Given the description of an element on the screen output the (x, y) to click on. 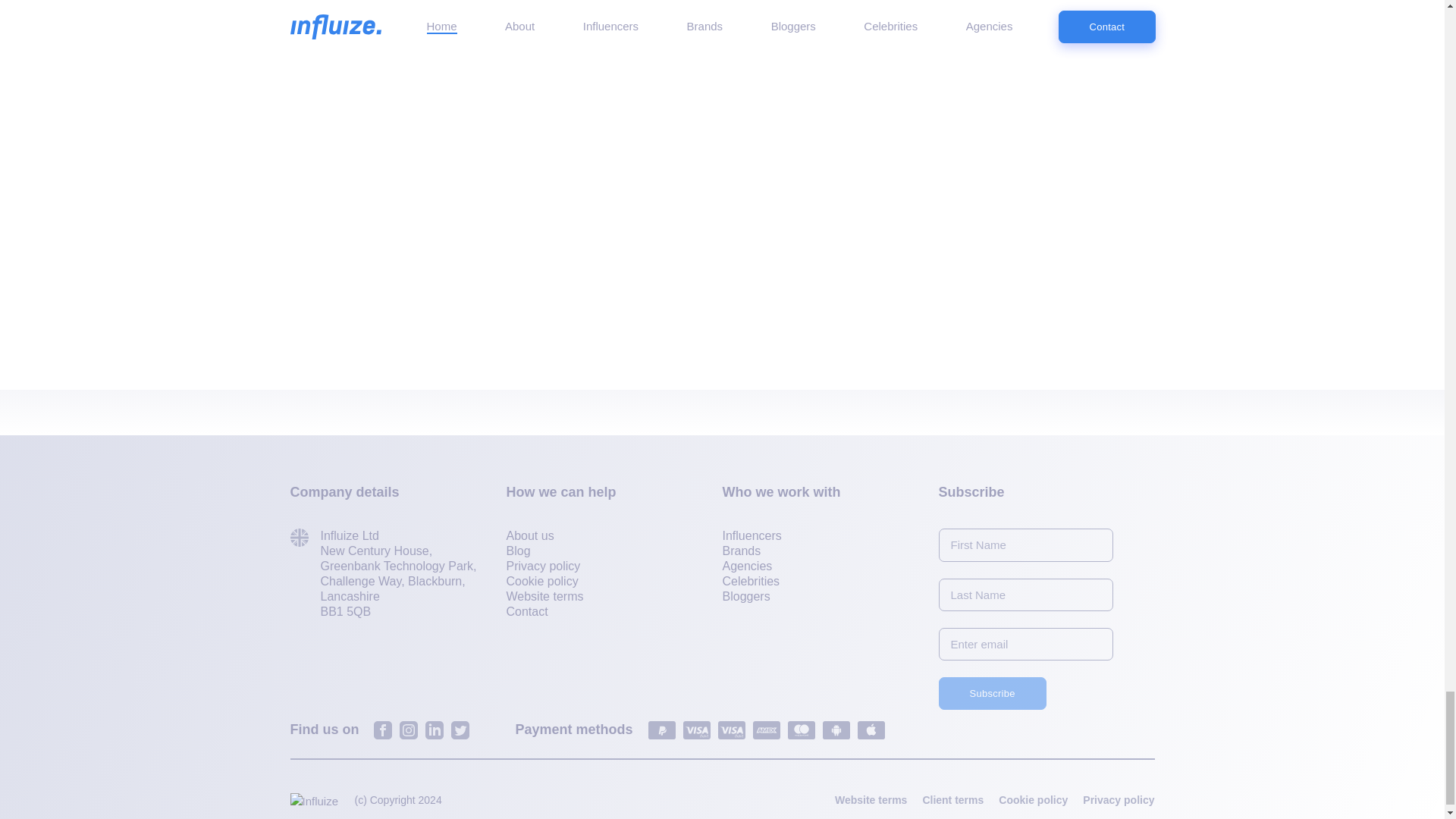
Subscribe (992, 693)
Subscribe (992, 693)
Contact (527, 612)
Influencers (751, 536)
Blog (518, 551)
Celebrities (750, 581)
Twitter (459, 730)
Cookie policy (542, 581)
Instagram (407, 730)
Brands (741, 551)
Privacy policy (543, 566)
Website terms (544, 596)
Bloggers (746, 596)
About us (530, 536)
Linked In (434, 730)
